Given the description of an element on the screen output the (x, y) to click on. 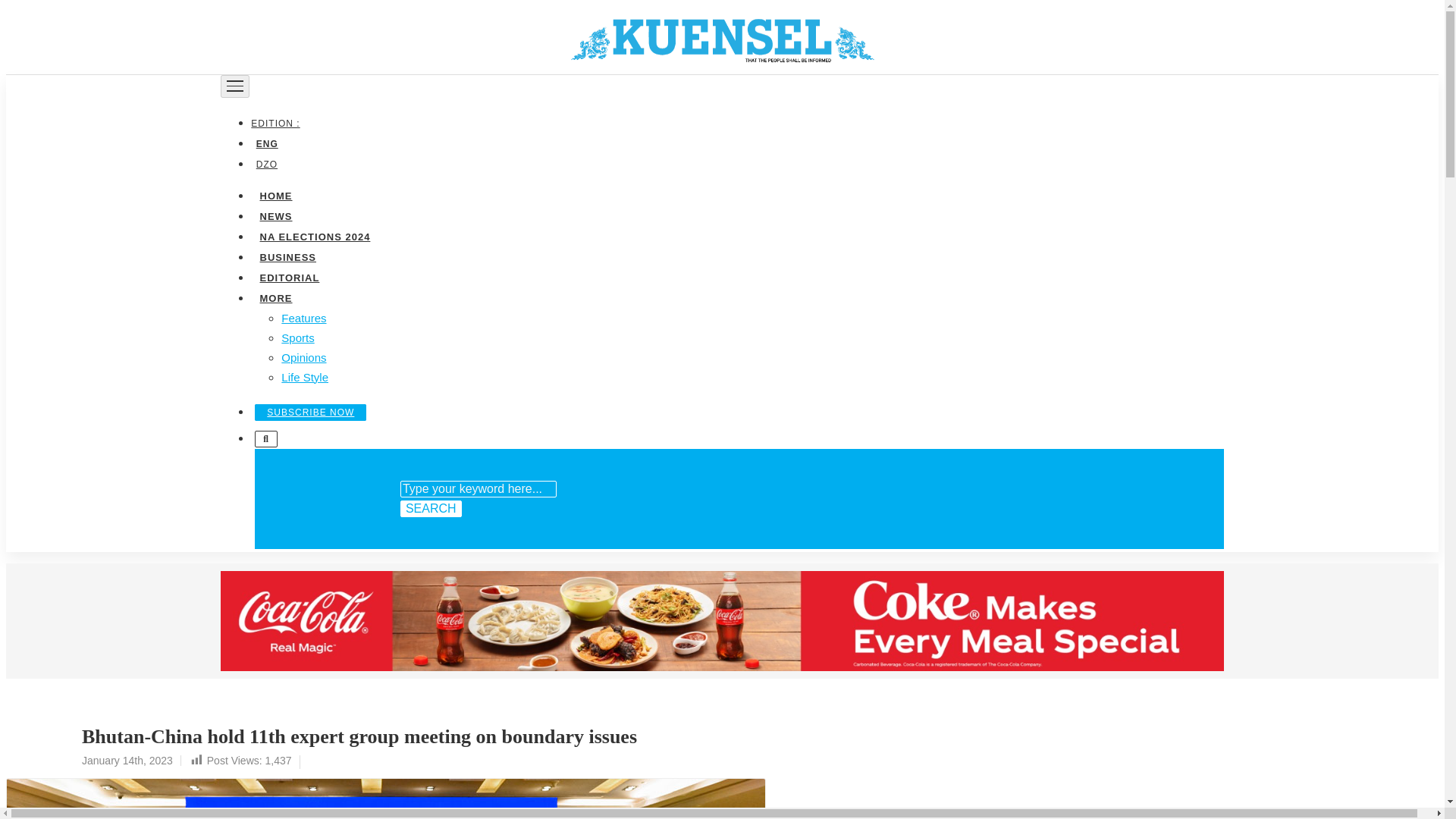
DZO (266, 163)
ENG (266, 143)
SUBSCRIBE NOW (310, 411)
NEWS (274, 215)
EDITION : (277, 122)
Life Style (305, 376)
EDITORIAL (288, 276)
Opinions (303, 356)
NA ELECTIONS 2024 (314, 235)
MORE (274, 297)
HOME (274, 194)
BUSINESS (287, 256)
SEARCH (430, 508)
Sports (297, 336)
Features (303, 317)
